Given the description of an element on the screen output the (x, y) to click on. 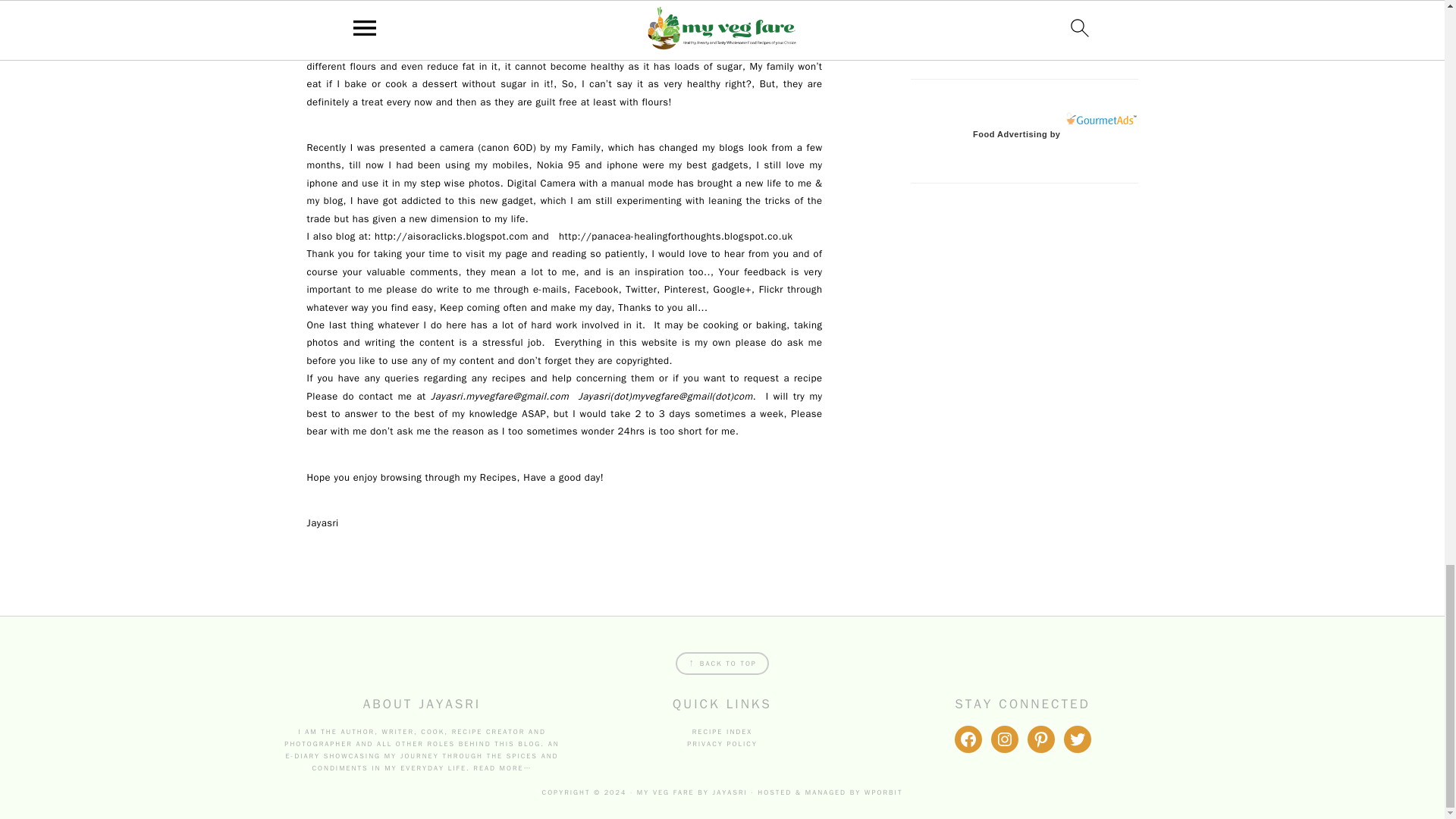
Twitter (641, 288)
 Facebook (593, 288)
Flickr (770, 288)
Pinterest (683, 288)
